Given the description of an element on the screen output the (x, y) to click on. 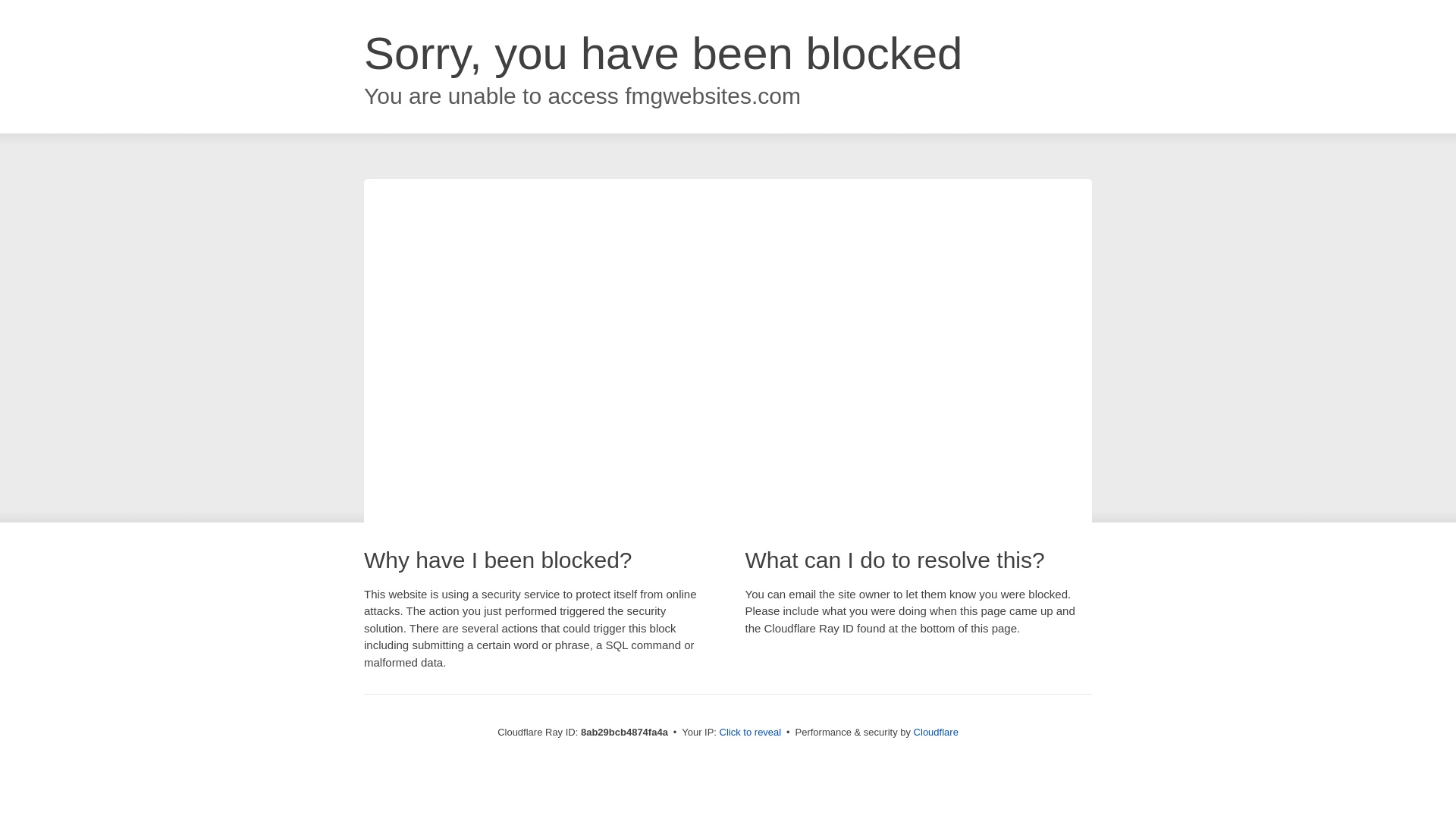
Cloudflare (936, 731)
Click to reveal (750, 732)
